Given the description of an element on the screen output the (x, y) to click on. 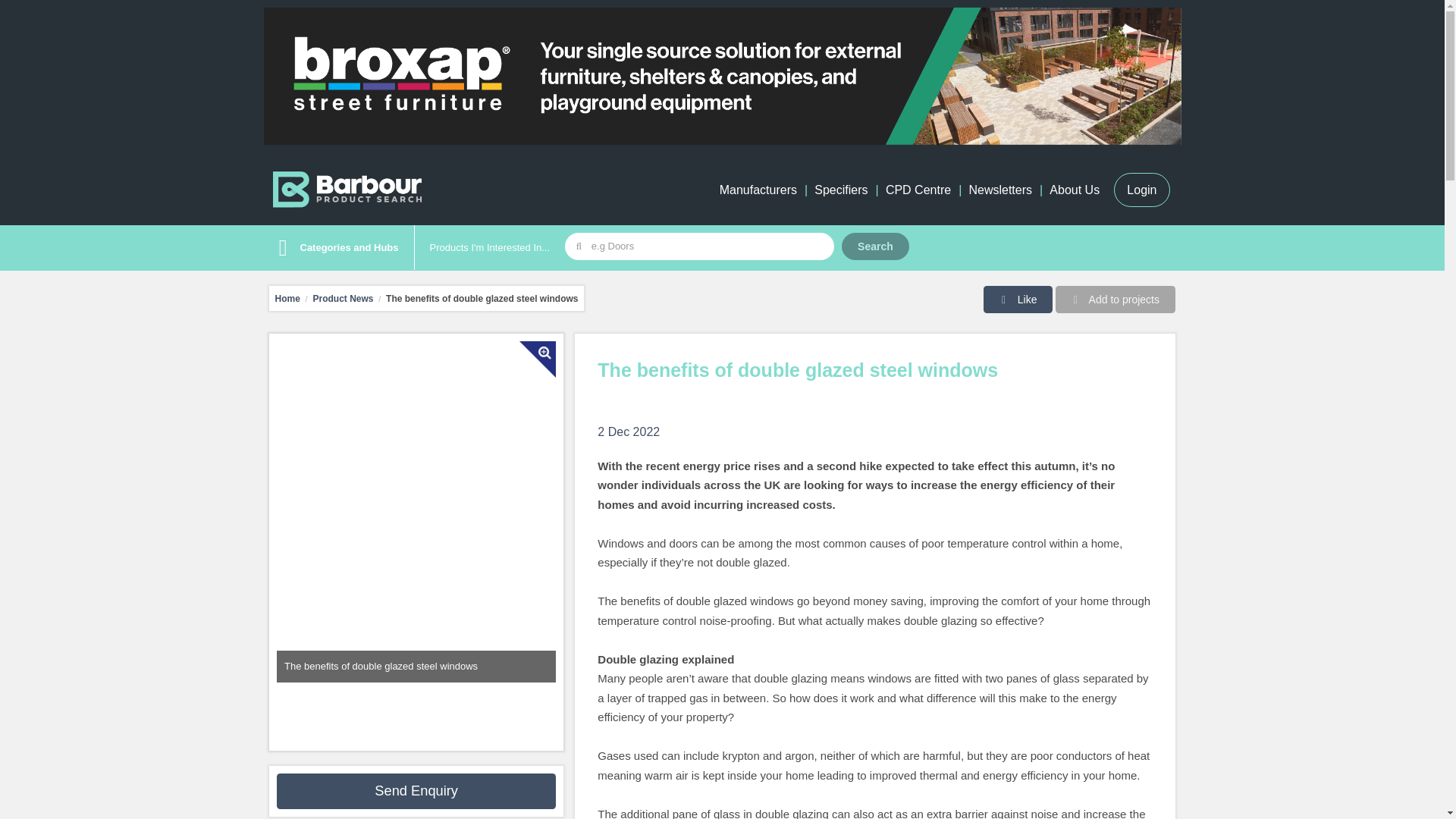
CPD Centre (917, 189)
Newsletters (1000, 189)
Manufacturers (757, 189)
Specifiers (840, 189)
Login (1141, 189)
About Us (1074, 189)
Categories and Hubs (333, 248)
